Given the description of an element on the screen output the (x, y) to click on. 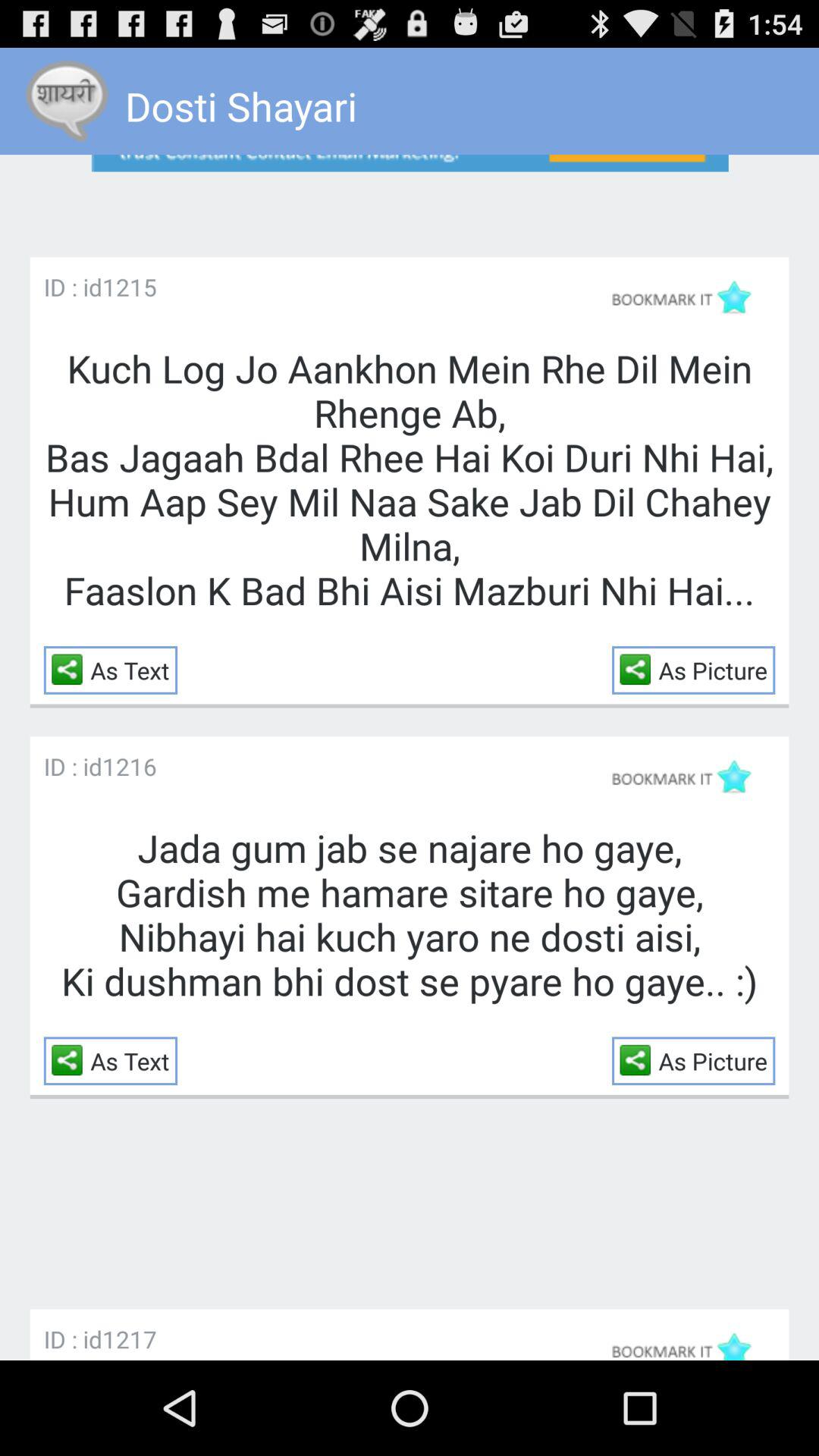
bookmark this post (688, 296)
